Given the description of an element on the screen output the (x, y) to click on. 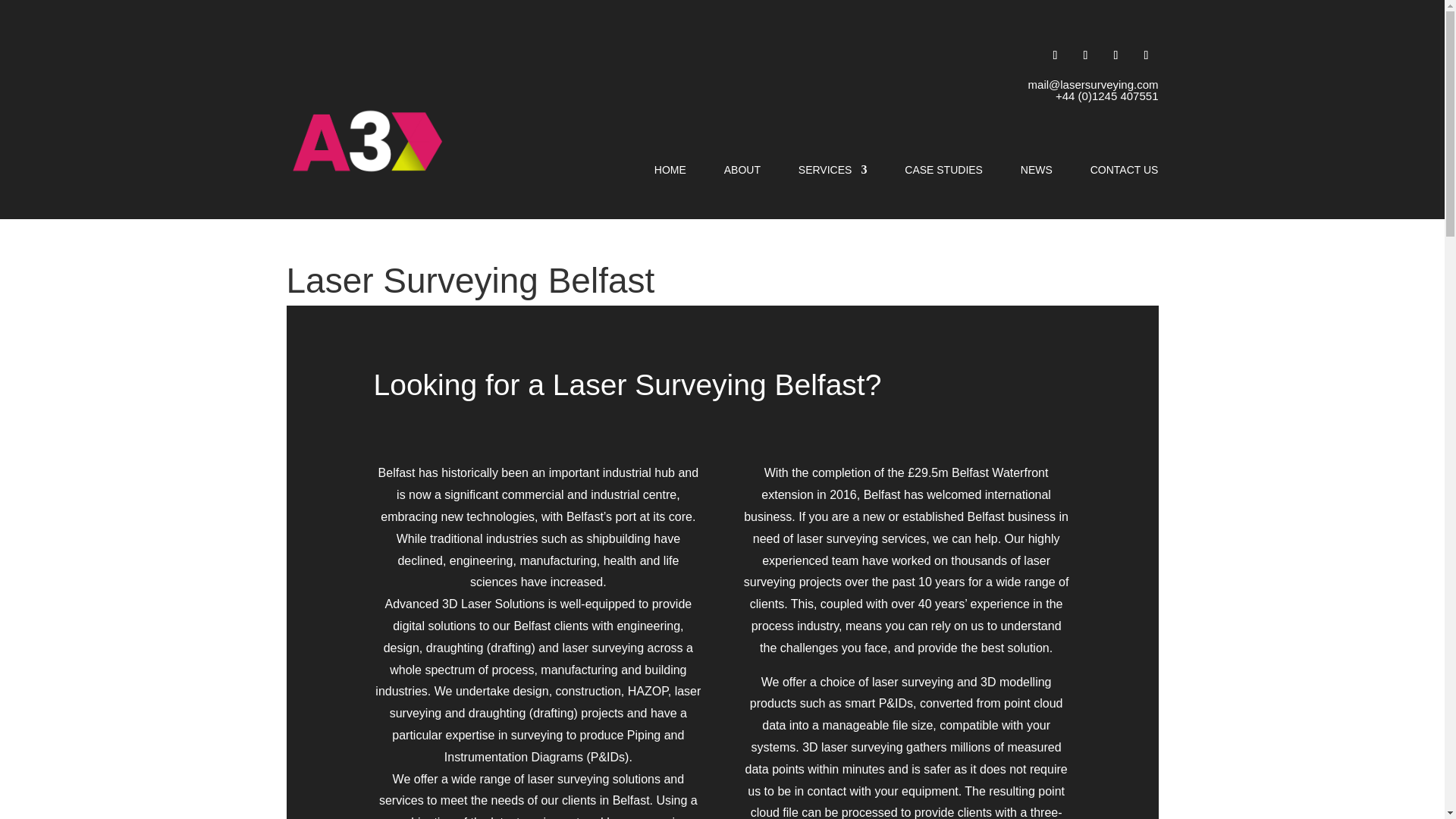
Follow on Youtube (1146, 55)
Follow on Twitter (1085, 55)
A3D-NEG-High.pngwebsite (366, 140)
Follow on LinkedIn (1115, 55)
Follow on Facebook (1055, 55)
